Given the description of an element on the screen output the (x, y) to click on. 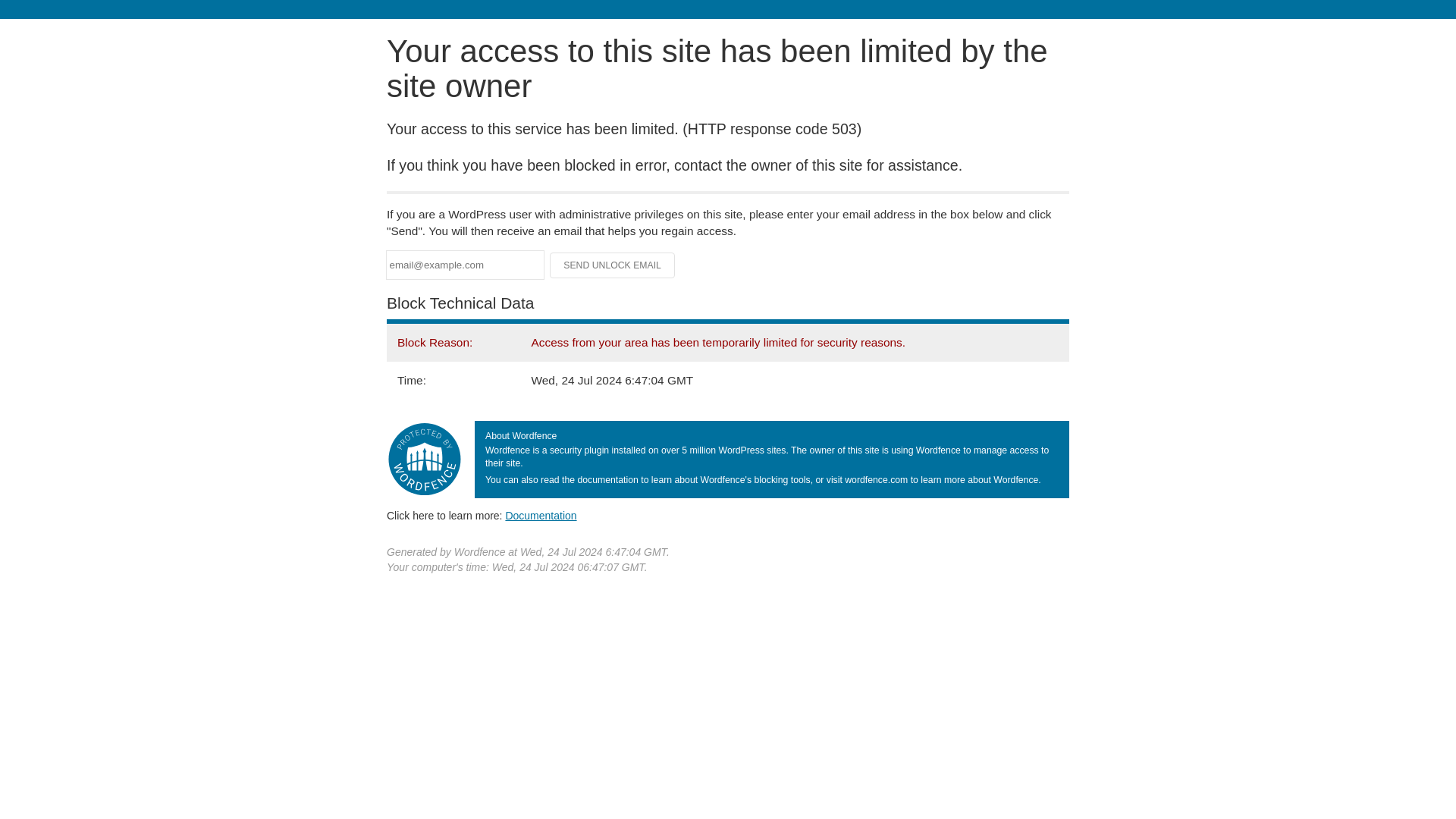
Documentation (540, 515)
Send Unlock Email (612, 265)
Send Unlock Email (612, 265)
